Given the description of an element on the screen output the (x, y) to click on. 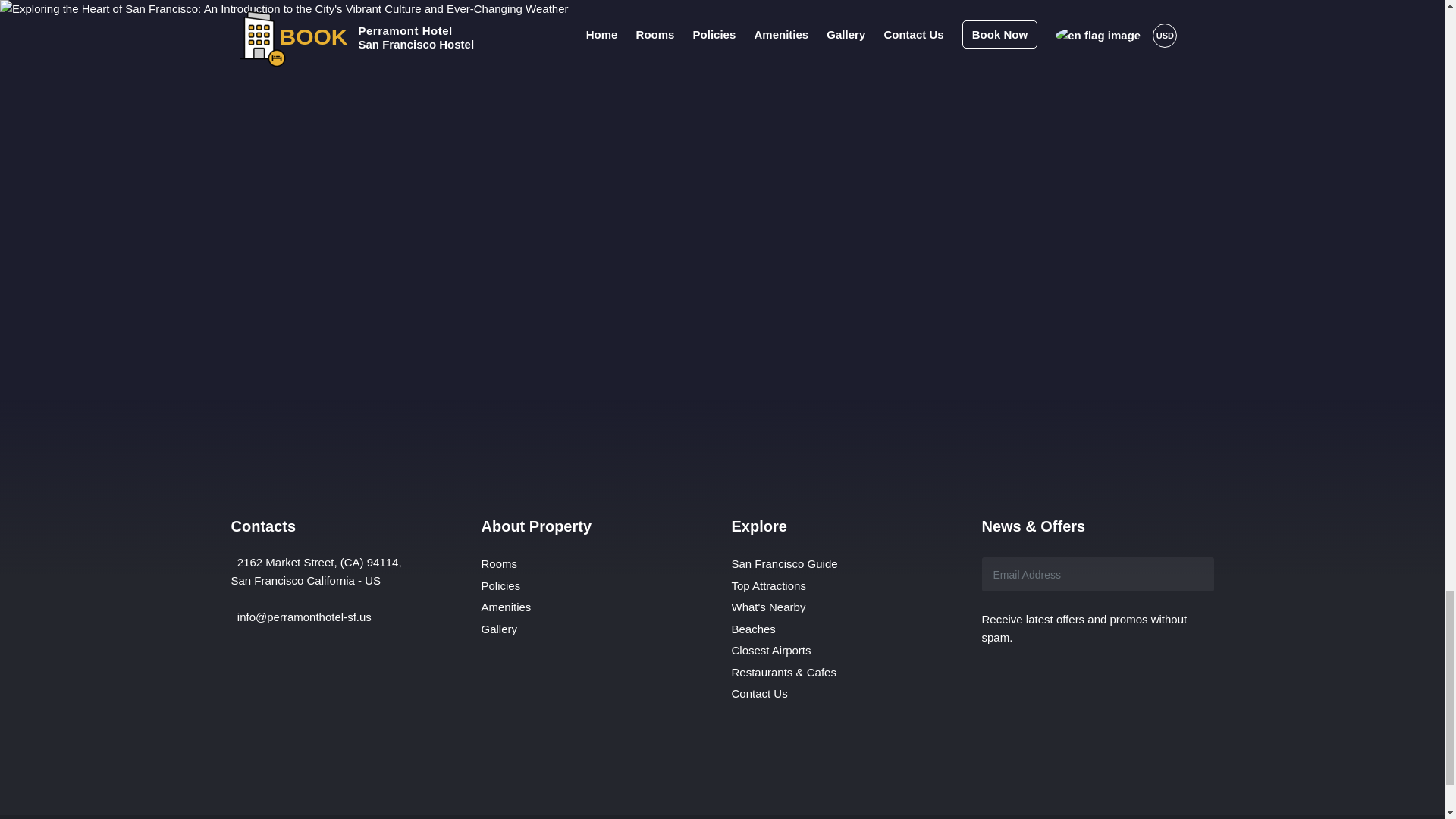
Rooms (498, 564)
